Given the description of an element on the screen output the (x, y) to click on. 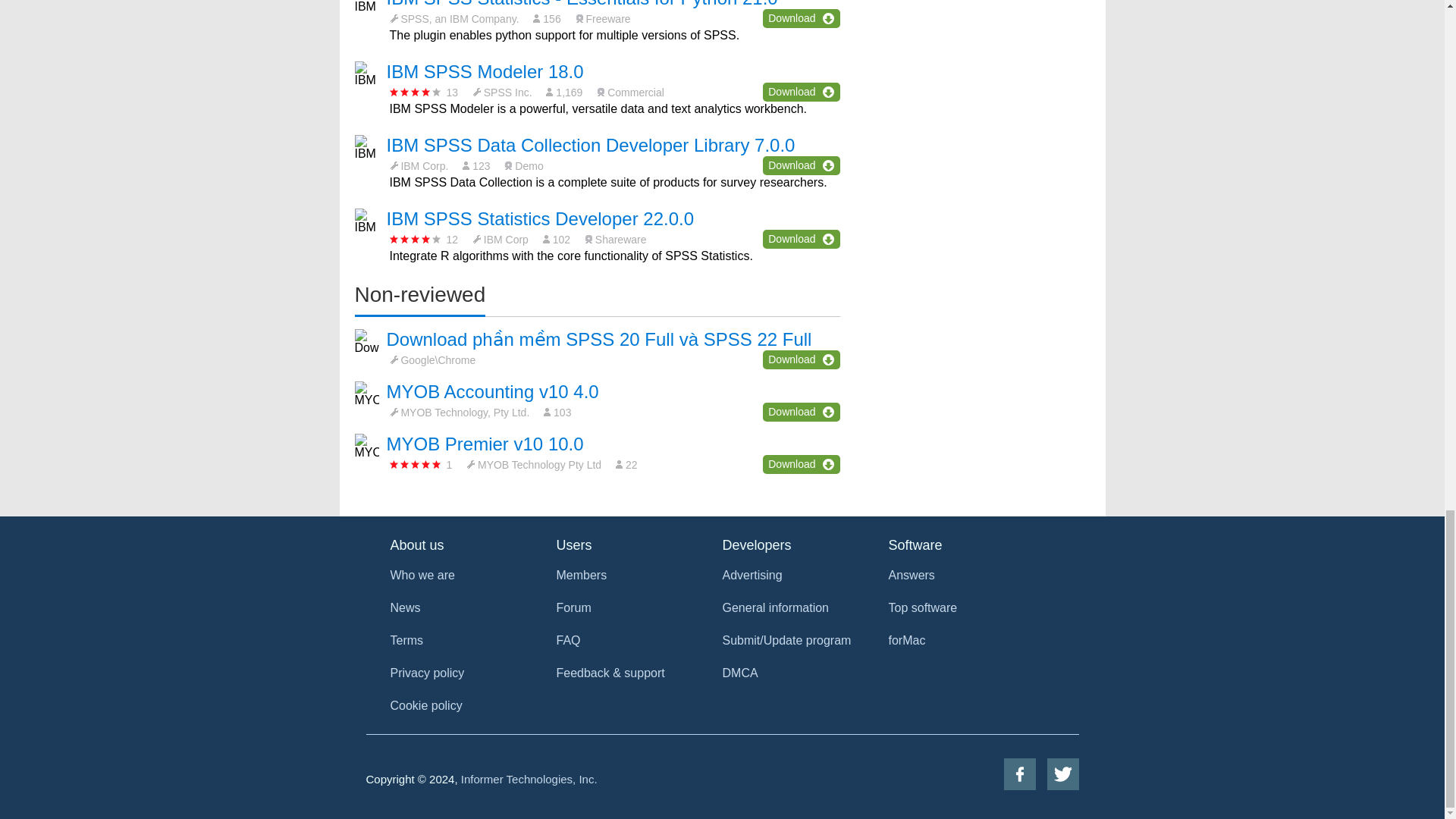
Download (801, 165)
IBM SPSS Data Collection Developer Library 7.0.0 (590, 145)
IBM SPSS Statistics - Essentials for Python 21.0 (582, 4)
Download (801, 91)
IBM SPSS Statistics - Essentials for Python 21.0 (582, 4)
Download (801, 18)
IBM SPSS Modeler 18.0 (485, 71)
IBM SPSS Modeler 18.0 (485, 71)
